Given the description of an element on the screen output the (x, y) to click on. 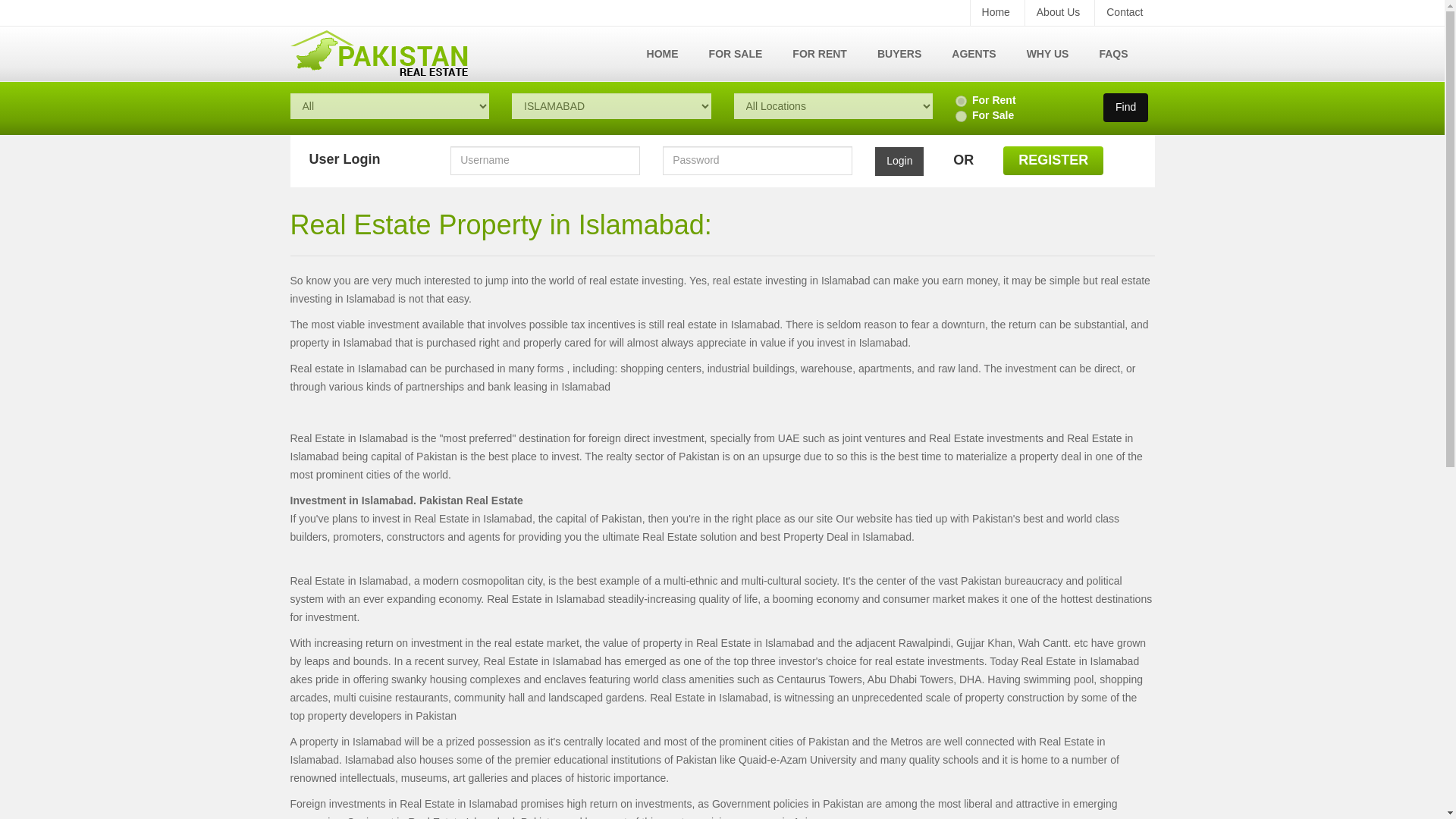
HOME (662, 53)
contact pakistan realestate (1124, 12)
FAQS (1112, 53)
FAQ House for sale (1112, 53)
FOR RENT (819, 53)
House on rent (819, 53)
Property Dealers Pakistan (973, 53)
BUYERS (898, 53)
pakistan realestate property (378, 53)
Find (1125, 107)
Property listing Pakistan (898, 53)
FOR SALE (735, 53)
Contact (1124, 12)
WHY US (1047, 53)
Find (1125, 107)
